Given the description of an element on the screen output the (x, y) to click on. 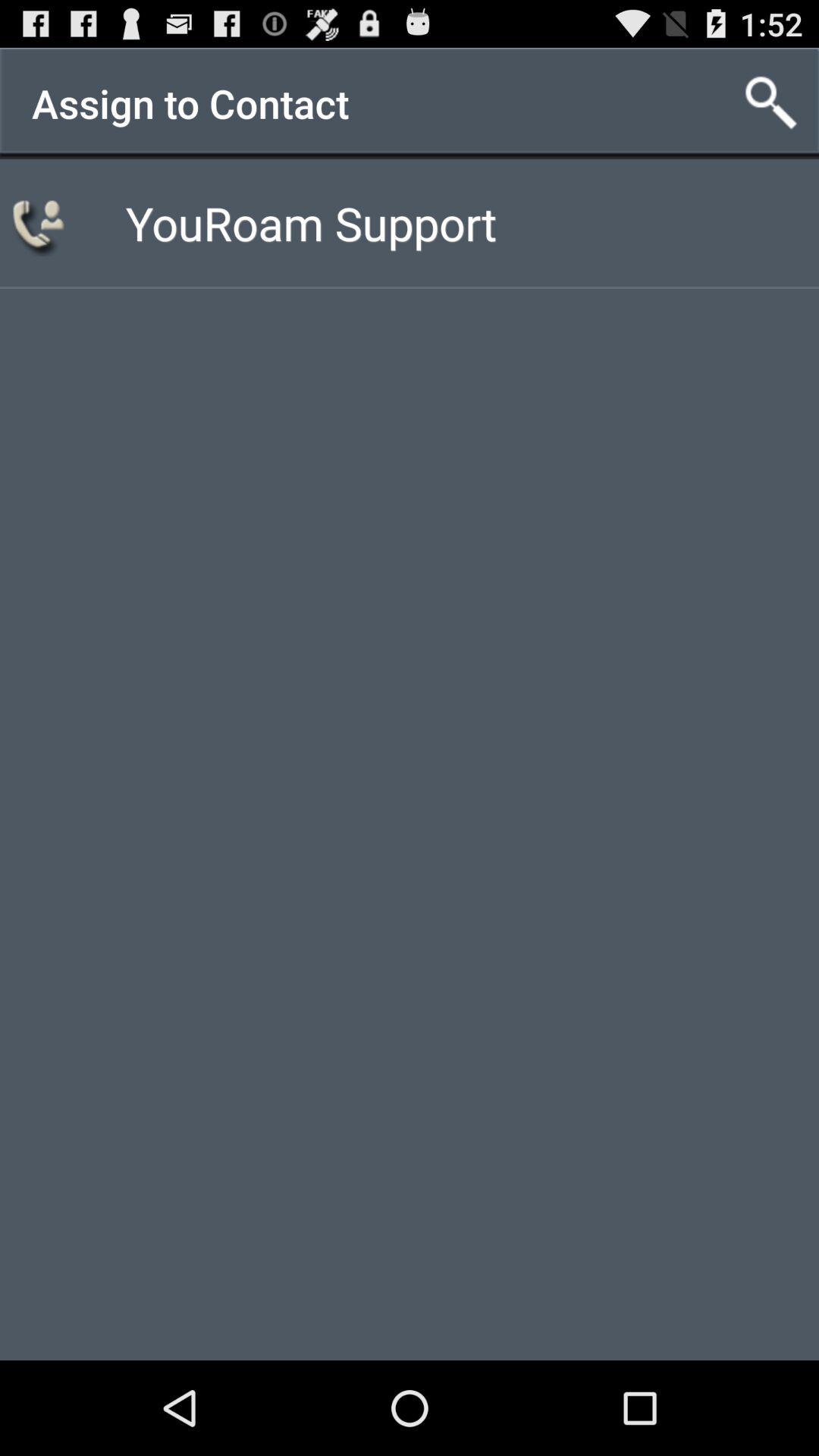
turn off icon below assign to contact item (310, 222)
